Given the description of an element on the screen output the (x, y) to click on. 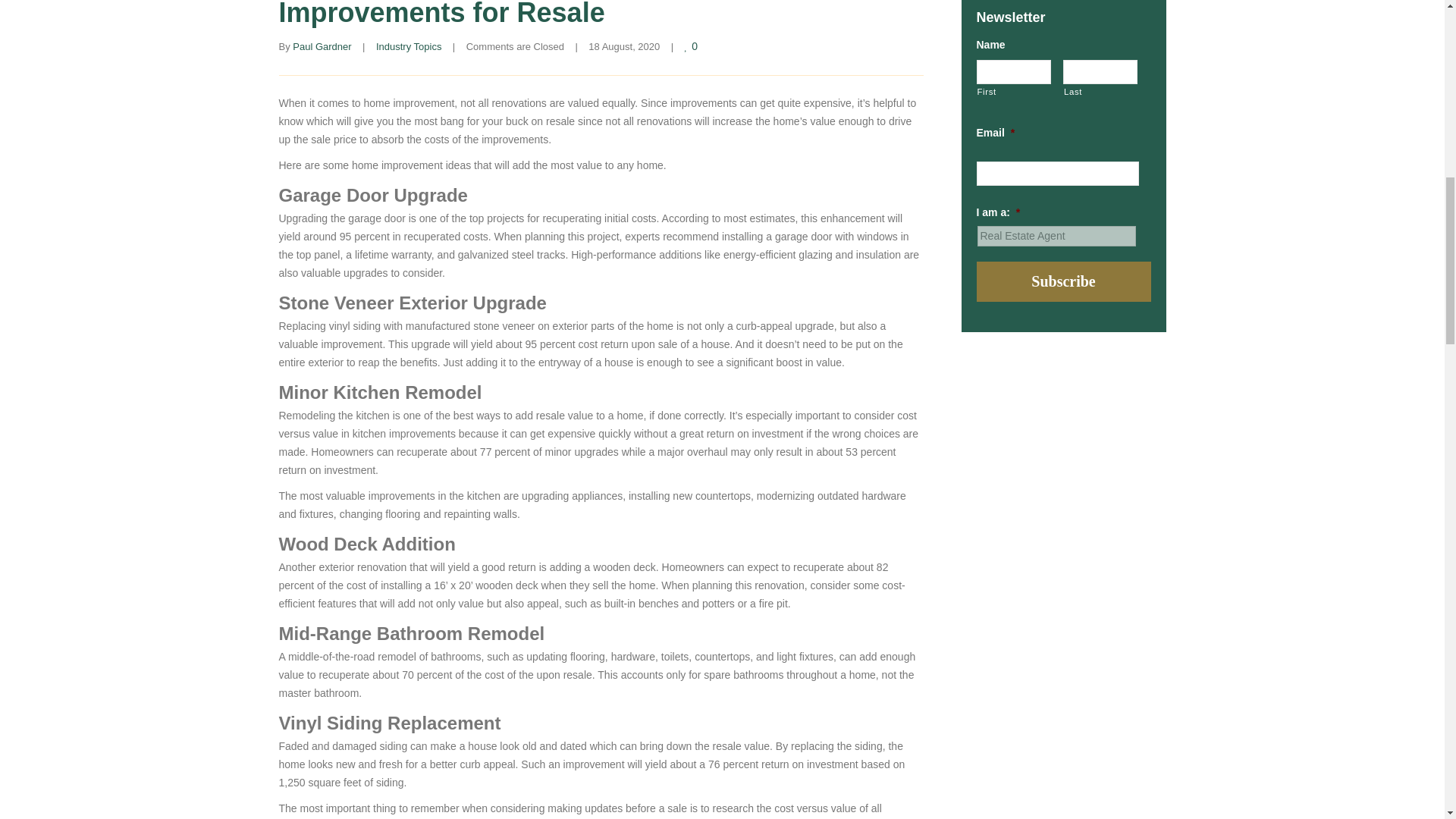
Increase Home Value: Profitable Home Improvements for Resale (528, 13)
Posts by Paul Gardner (321, 46)
0  (692, 46)
Like this (692, 46)
Industry Topics (408, 46)
Paul Gardner (321, 46)
Subscribe (1063, 281)
Increase Home Value: Profitable Home Improvements for Resale (528, 13)
